Given the description of an element on the screen output the (x, y) to click on. 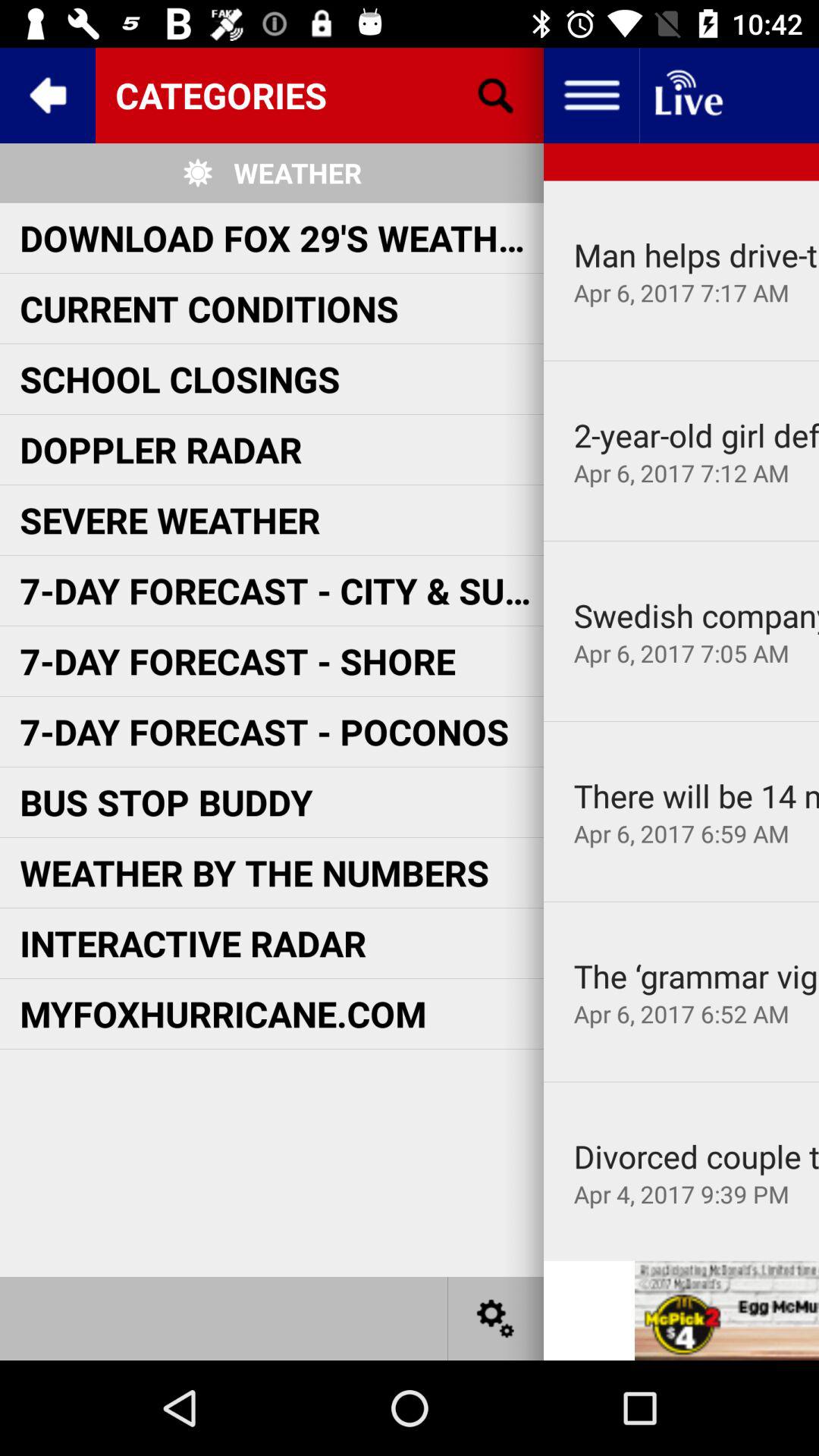
launch the item above the grammar vigilante app (681, 901)
